Given the description of an element on the screen output the (x, y) to click on. 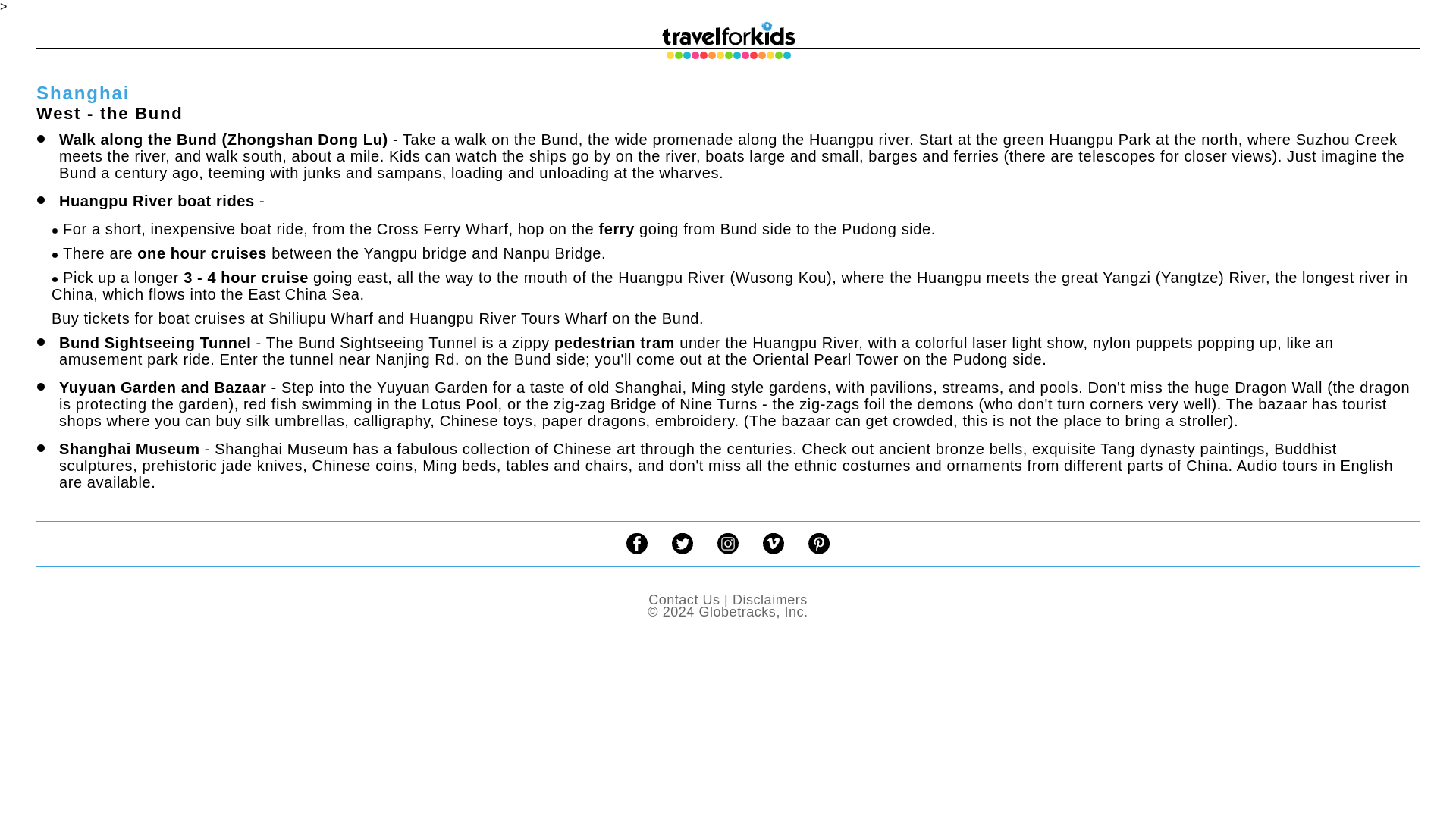
Contact Us (683, 599)
Disclaimers (770, 599)
